Given the description of an element on the screen output the (x, y) to click on. 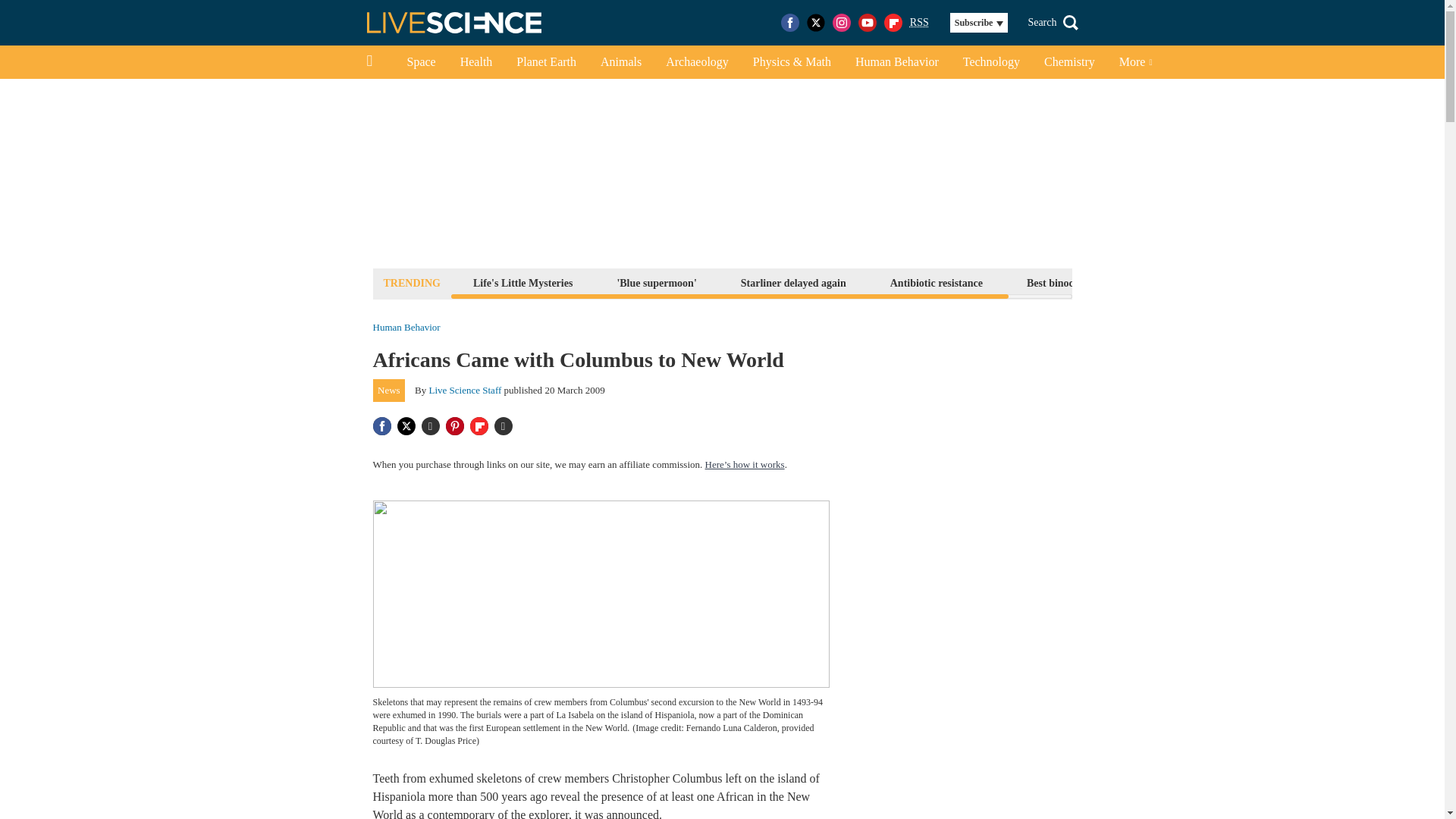
Technology (991, 61)
Starliner delayed again (793, 282)
Planet Earth (545, 61)
Space (420, 61)
Human Behavior (406, 327)
Chemistry (1069, 61)
Health (476, 61)
Antibiotic resistance (936, 282)
RSS (919, 22)
Live Science Staff (465, 389)
